Given the description of an element on the screen output the (x, y) to click on. 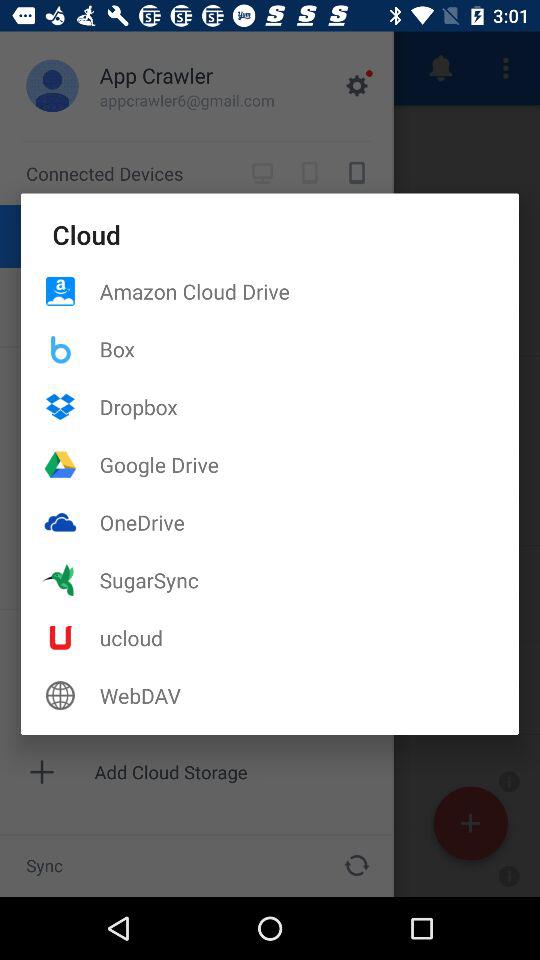
turn on icon above the sugarsync (309, 522)
